Given the description of an element on the screen output the (x, y) to click on. 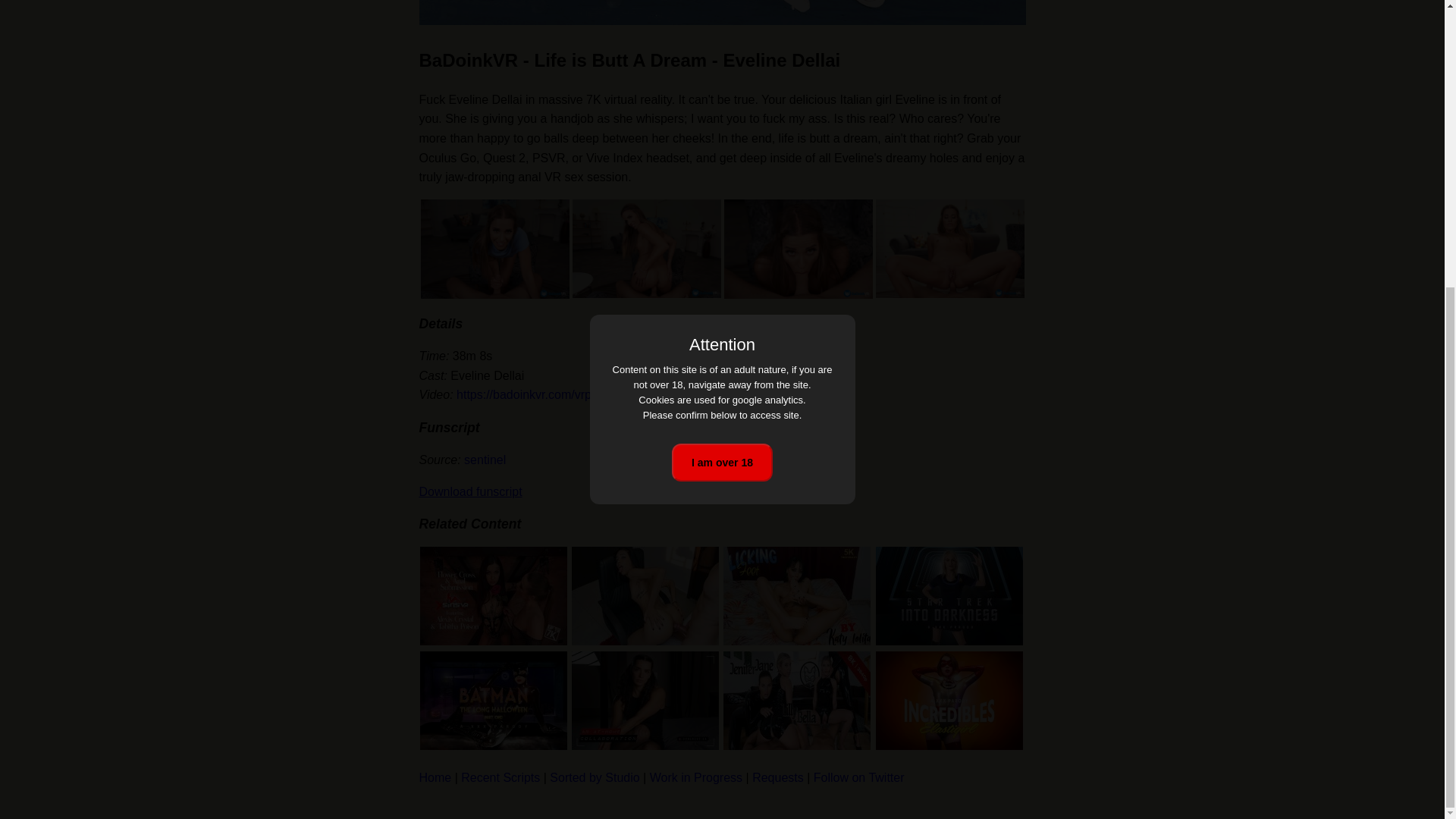
KinkVR - Love Lock and Key - Lina Strong (645, 700)
Recent Scripts (500, 777)
Czech VR Fetish 325 - Latex Joy - Jenifer Jane, Lilly Bella (796, 700)
Requests (777, 777)
BaDoinkVR - Life is Butt A Dream - Eveline Dellai (722, 12)
Work in Progress (695, 777)
SinsVR - Happy Valentine - Alexis Crystal, Tabitha Poison (493, 596)
Follow on Twitter (858, 777)
Download funscript (470, 491)
Sorted by Studio (594, 777)
Anal Delight - Naughty Petite - Petite Teen Amateur Anal Sex (645, 596)
I am over 18 (722, 26)
Home (435, 777)
sentinel (484, 459)
